Given the description of an element on the screen output the (x, y) to click on. 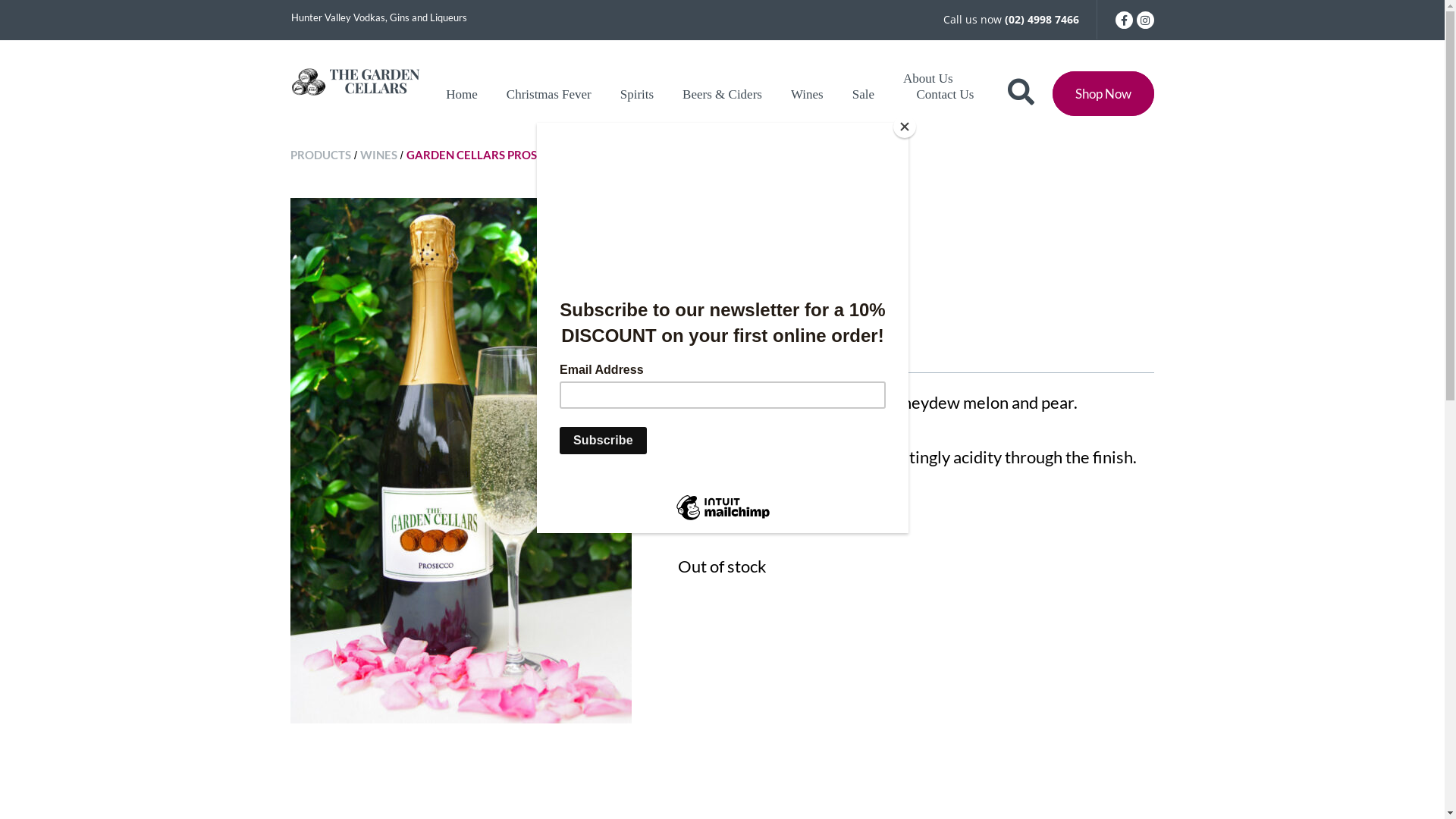
About Us Element type: text (928, 78)
Home Element type: text (461, 94)
WINES Element type: text (378, 154)
Contact Us Element type: text (944, 94)
Beers & Ciders Element type: text (722, 94)
Wines Element type: text (806, 94)
Shop Now Element type: text (1103, 93)
PRODUCTS Element type: text (320, 154)
WINES Element type: text (732, 205)
SALE Element type: text (692, 205)
Spirits Element type: text (636, 94)
GC Prosecco Val - Resized Element type: hover (460, 460)
Sale Element type: text (863, 94)
Christmas Fever Element type: text (548, 94)
Call us now (02) 4998 7466 Element type: text (1011, 19)
